Given the description of an element on the screen output the (x, y) to click on. 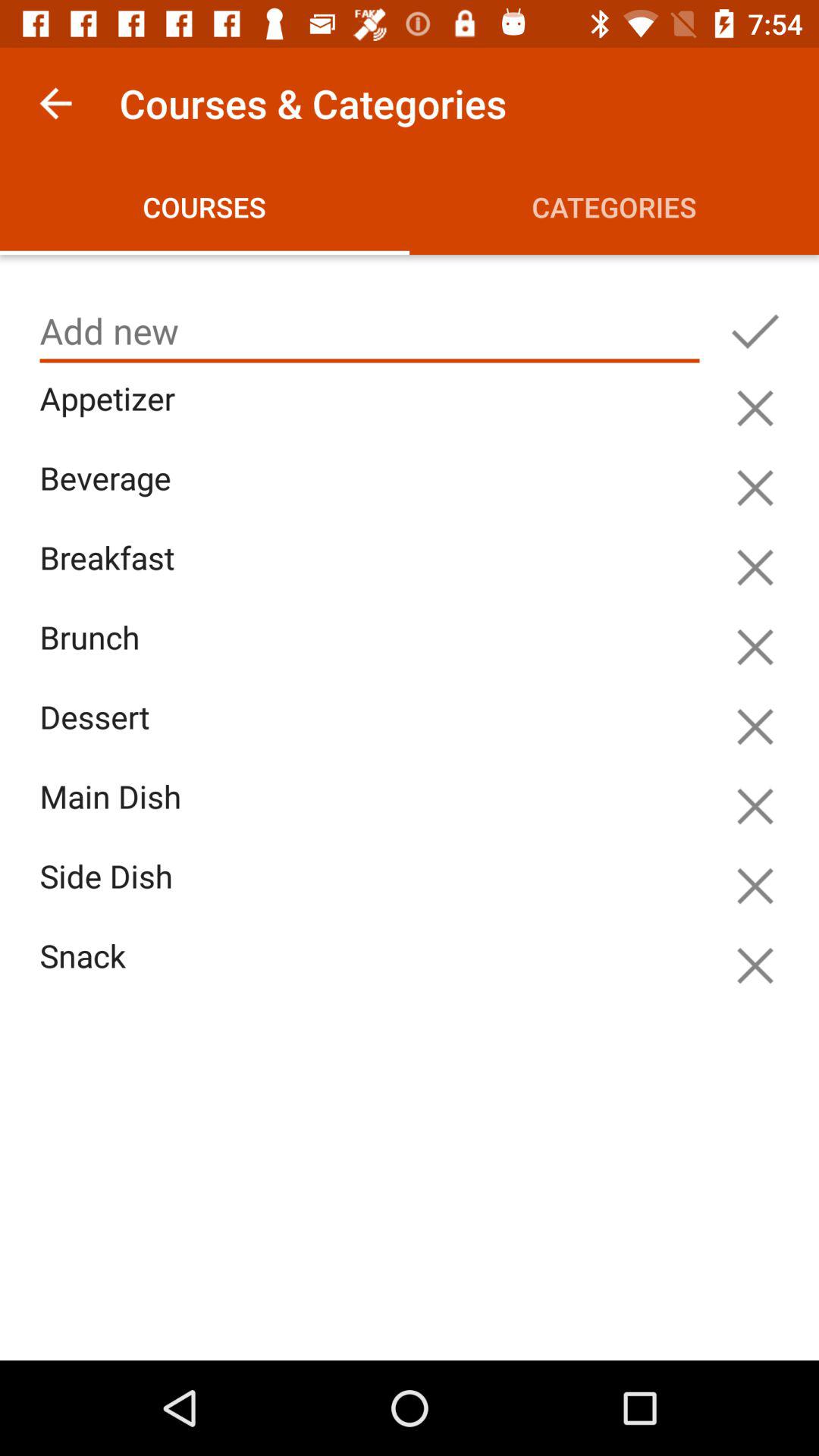
do n't add breakfast (755, 567)
